Given the description of an element on the screen output the (x, y) to click on. 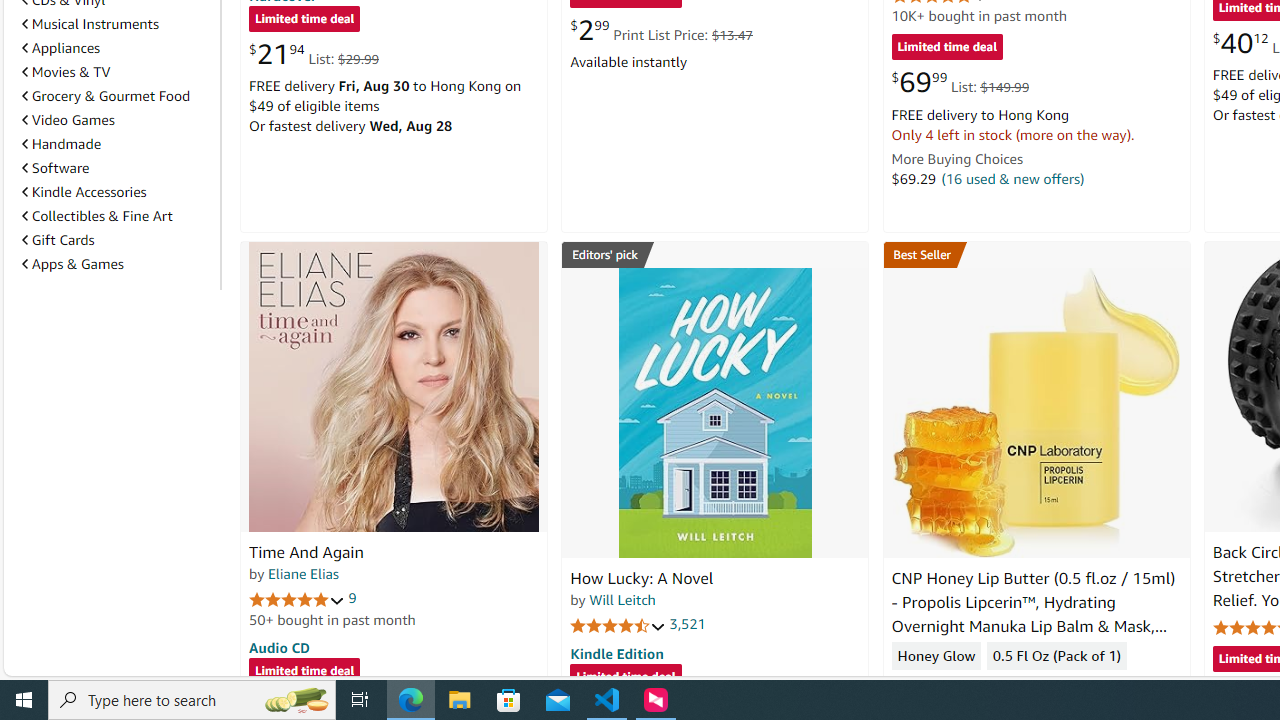
Audio CD (279, 646)
Handmade (61, 143)
Handmade (117, 143)
Musical Instruments (117, 23)
Collectibles & Fine Art (96, 215)
$69.99 List: $149.99 (960, 82)
Kindle Accessories (117, 192)
Kindle Edition (616, 653)
9 (352, 597)
Limited time deal (625, 678)
Software (117, 167)
5.0 out of 5 stars (297, 598)
Gift Cards (117, 239)
